Given the description of an element on the screen output the (x, y) to click on. 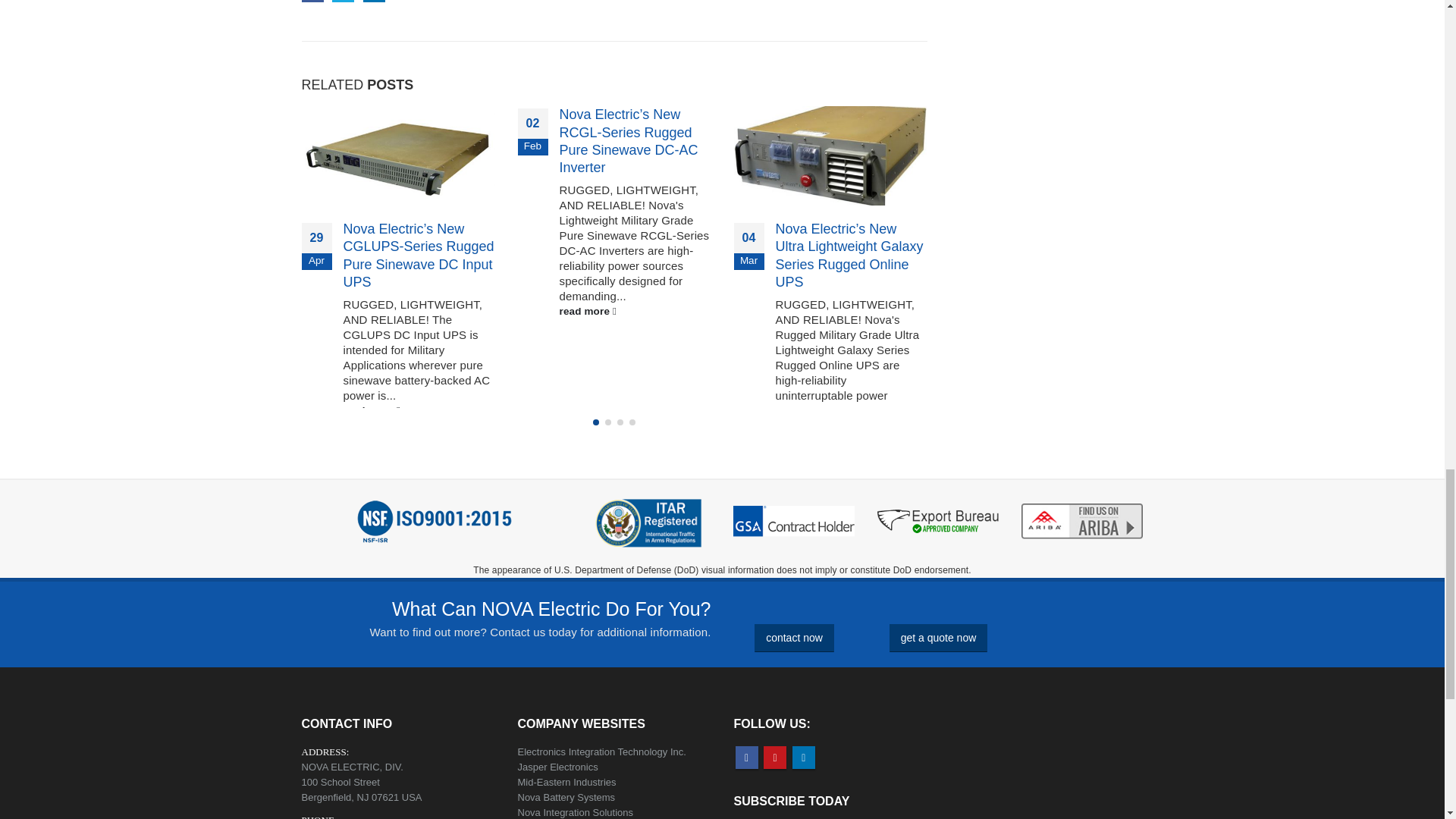
footer-lgc-1c (649, 526)
footer-lgc-4 (1082, 521)
footer-lgc-3 (937, 521)
footer-lgc-2 (793, 520)
footer-lgc-5 (433, 521)
